Given the description of an element on the screen output the (x, y) to click on. 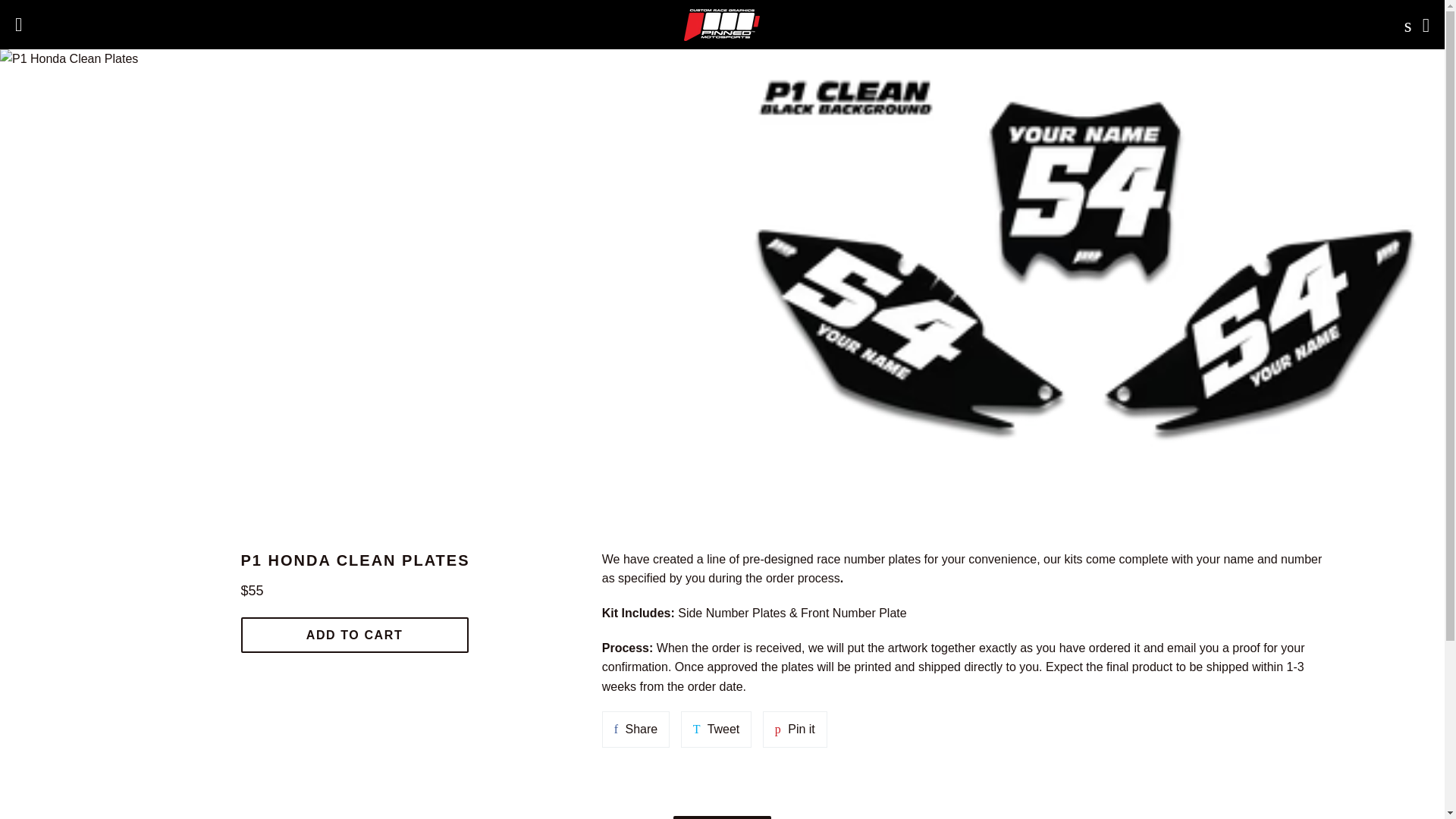
ADD TO CART (354, 634)
Pin on Pinterest (794, 729)
Tweet on Twitter (716, 729)
Share on Facebook (635, 729)
